Given the description of an element on the screen output the (x, y) to click on. 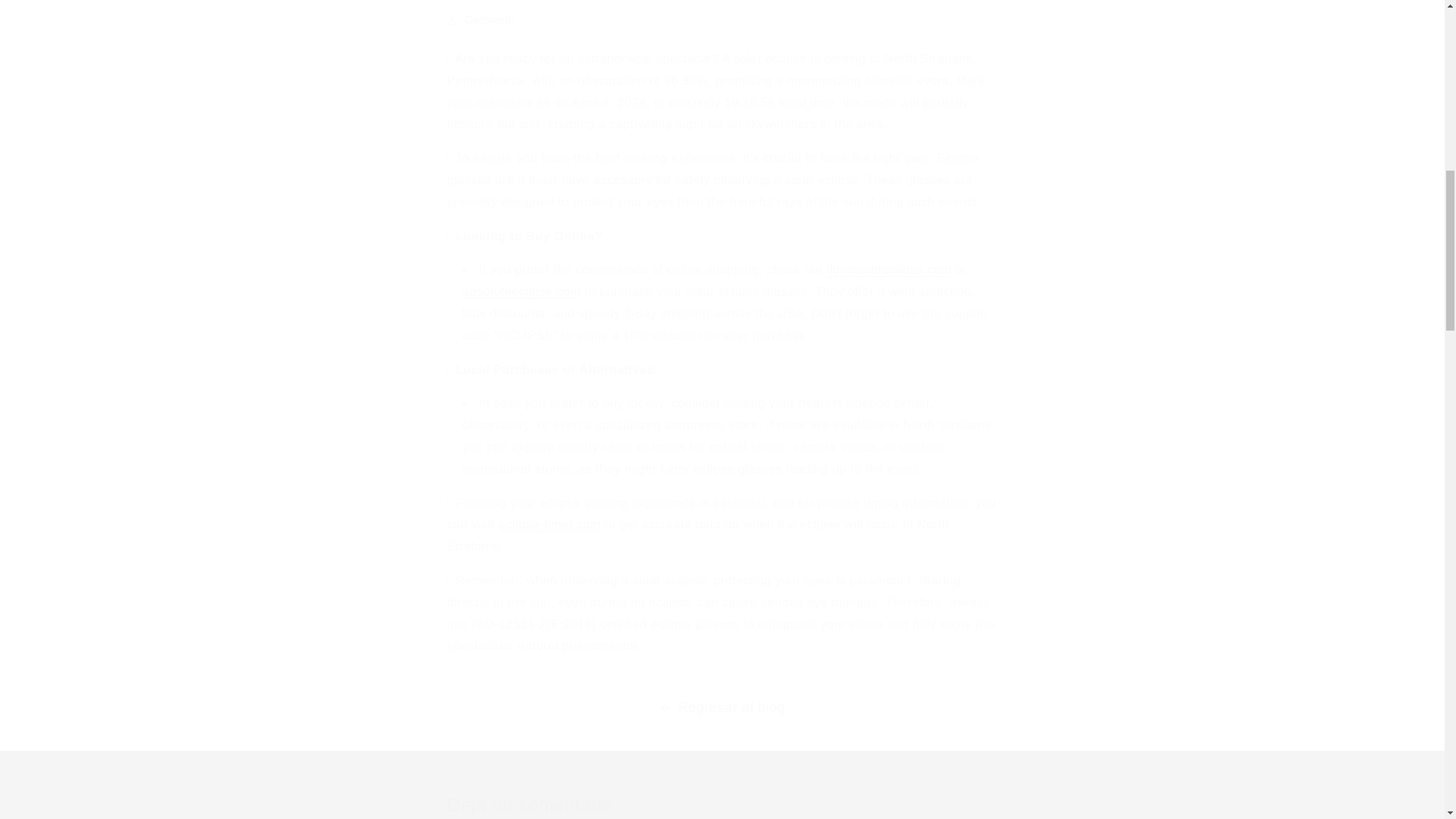
absoluteeclipse.com (521, 291)
ilovesolareclipse.com (889, 269)
eclipse-timer.com (550, 523)
Compartir (721, 20)
